Given the description of an element on the screen output the (x, y) to click on. 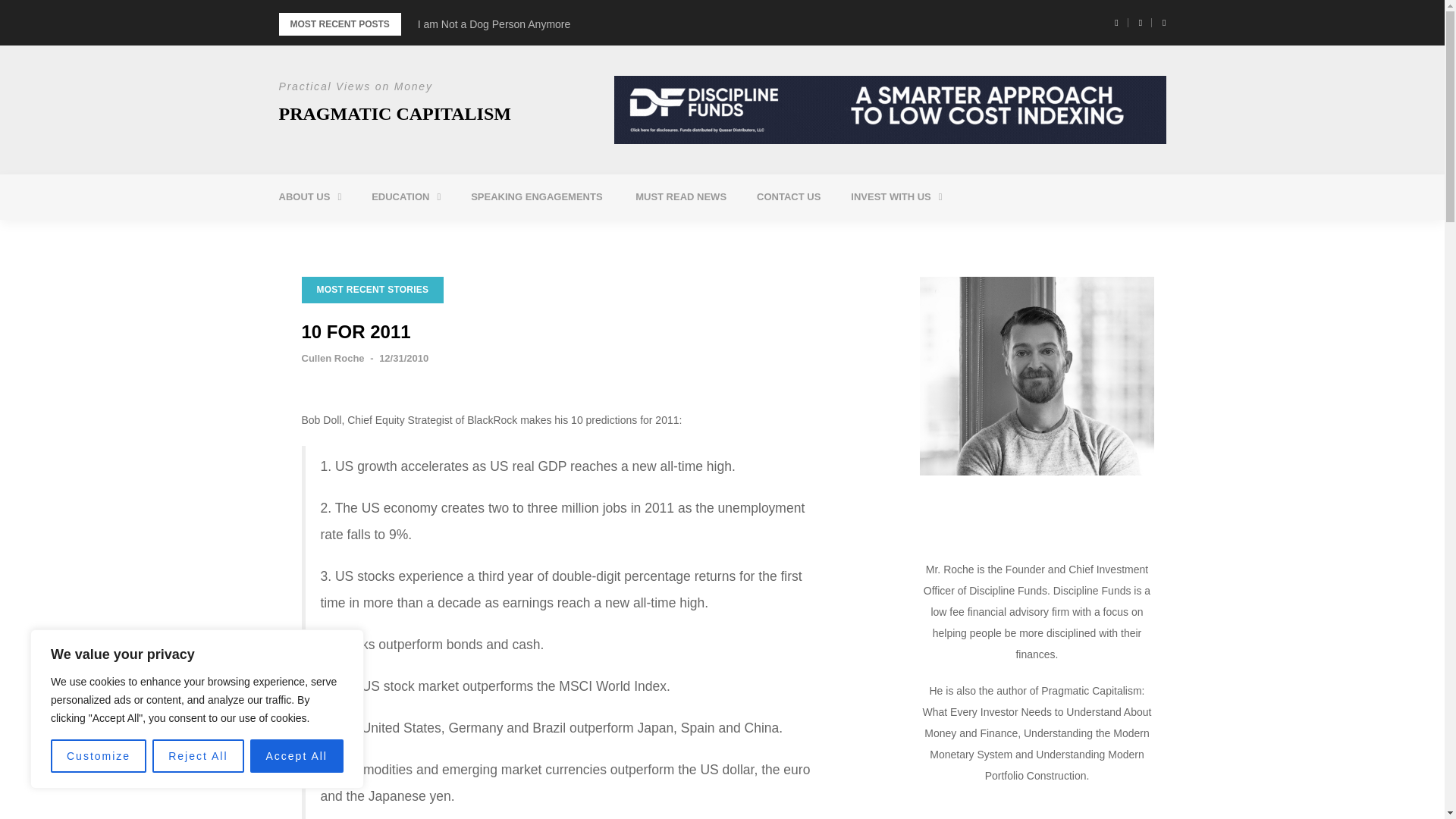
About Us (309, 197)
Understanding Money (458, 235)
Meet Cullen Roche! (365, 235)
PRAGMATIC CAPITALISM (395, 113)
EDUCATION (405, 197)
Meet Cullen Roche! (365, 235)
Customize (98, 756)
ABOUT US (309, 197)
Accept All (296, 756)
Reject All (197, 756)
I am Not a Dog Person Anymore (493, 24)
I am Not a Dog Person Anymore (493, 24)
